Given the description of an element on the screen output the (x, y) to click on. 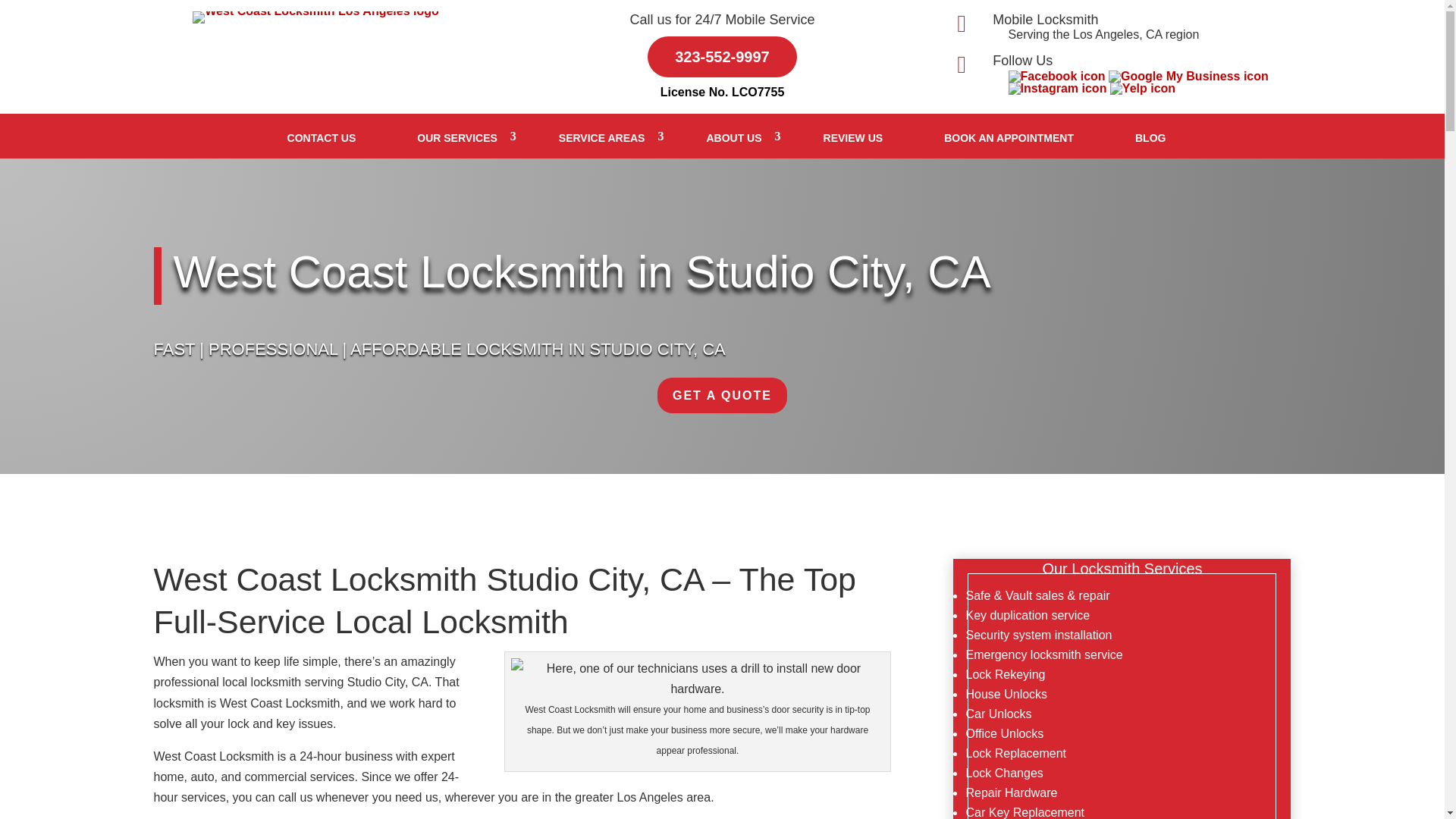
OUR SERVICES (457, 137)
323-552-9997 (721, 56)
SERVICE AREAS (601, 137)
CONTACT US (321, 137)
West Coast Locksmith Los Angeles logo (315, 10)
